Given the description of an element on the screen output the (x, y) to click on. 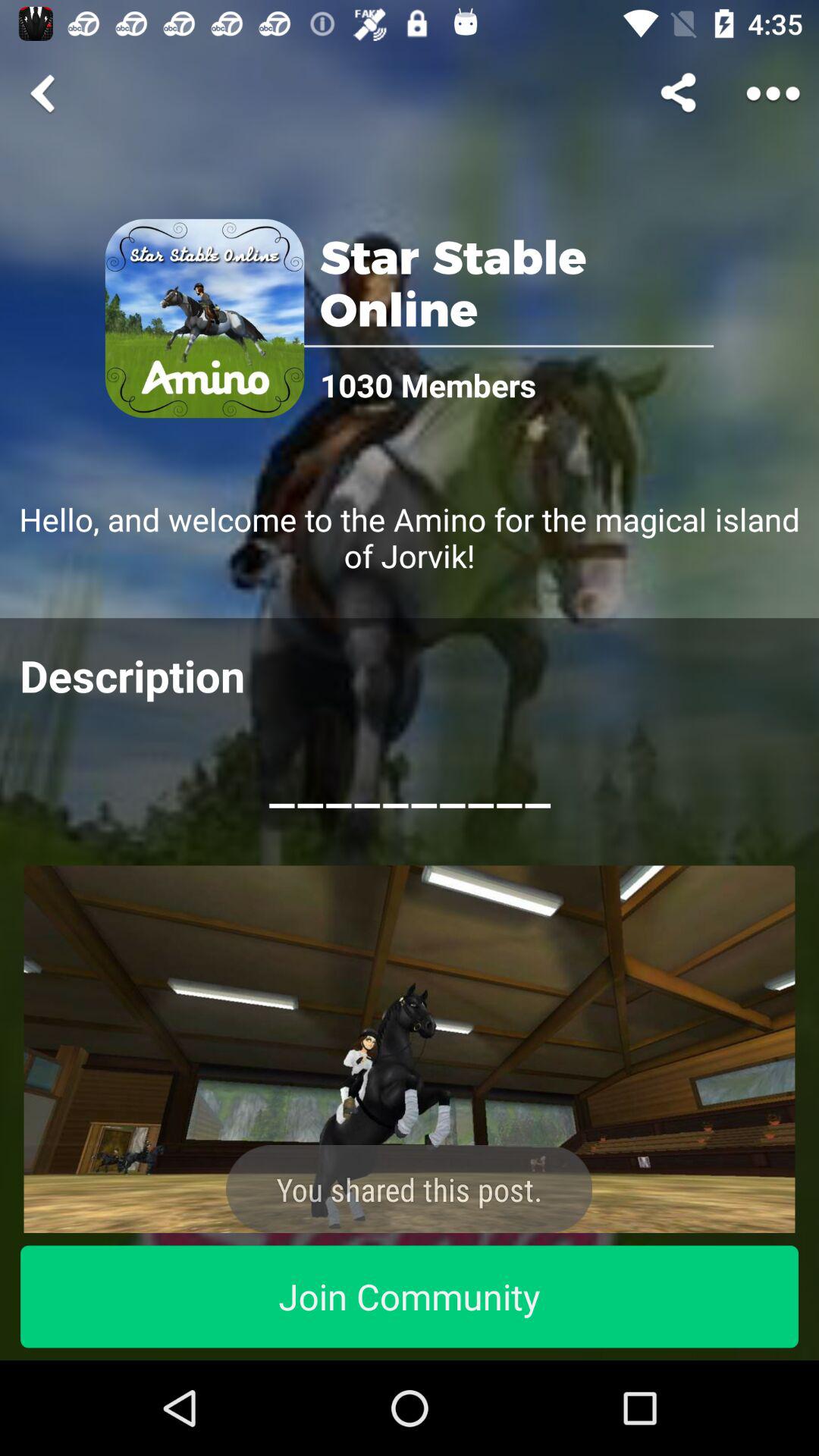
share the article (773, 93)
